Given the description of an element on the screen output the (x, y) to click on. 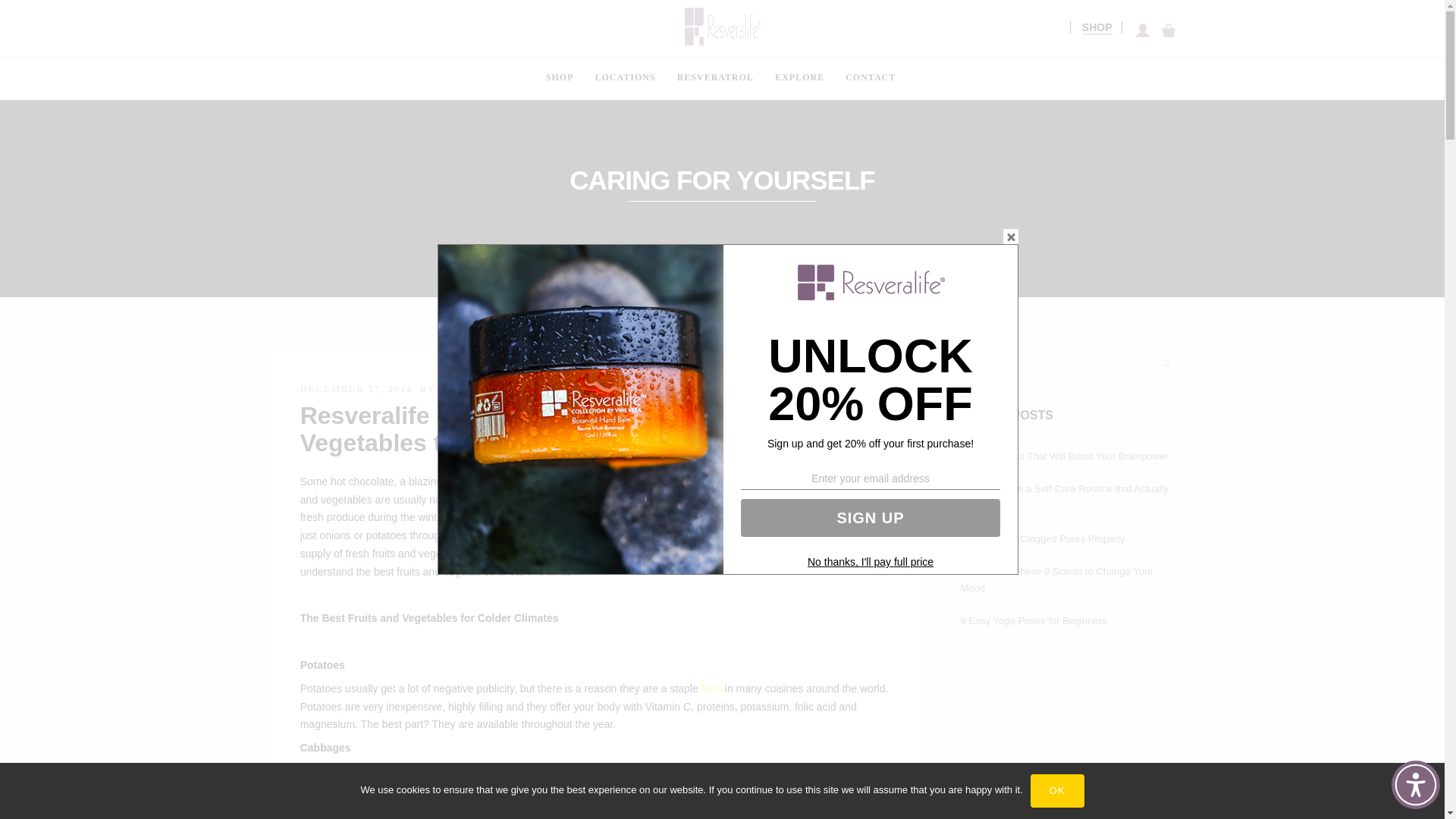
SHOP (560, 76)
Top Food Items That Make Our Skin Glow (711, 688)
Close (1010, 236)
LOCATIONS (625, 76)
EXPLORE (799, 76)
Vine Vera (815, 553)
Eat Well (729, 553)
RESVERATROL (715, 76)
CONTACT (869, 76)
Accessibility Menu (1415, 784)
MAYANK (467, 388)
SHOP (1096, 27)
No (1425, 790)
